Given the description of an element on the screen output the (x, y) to click on. 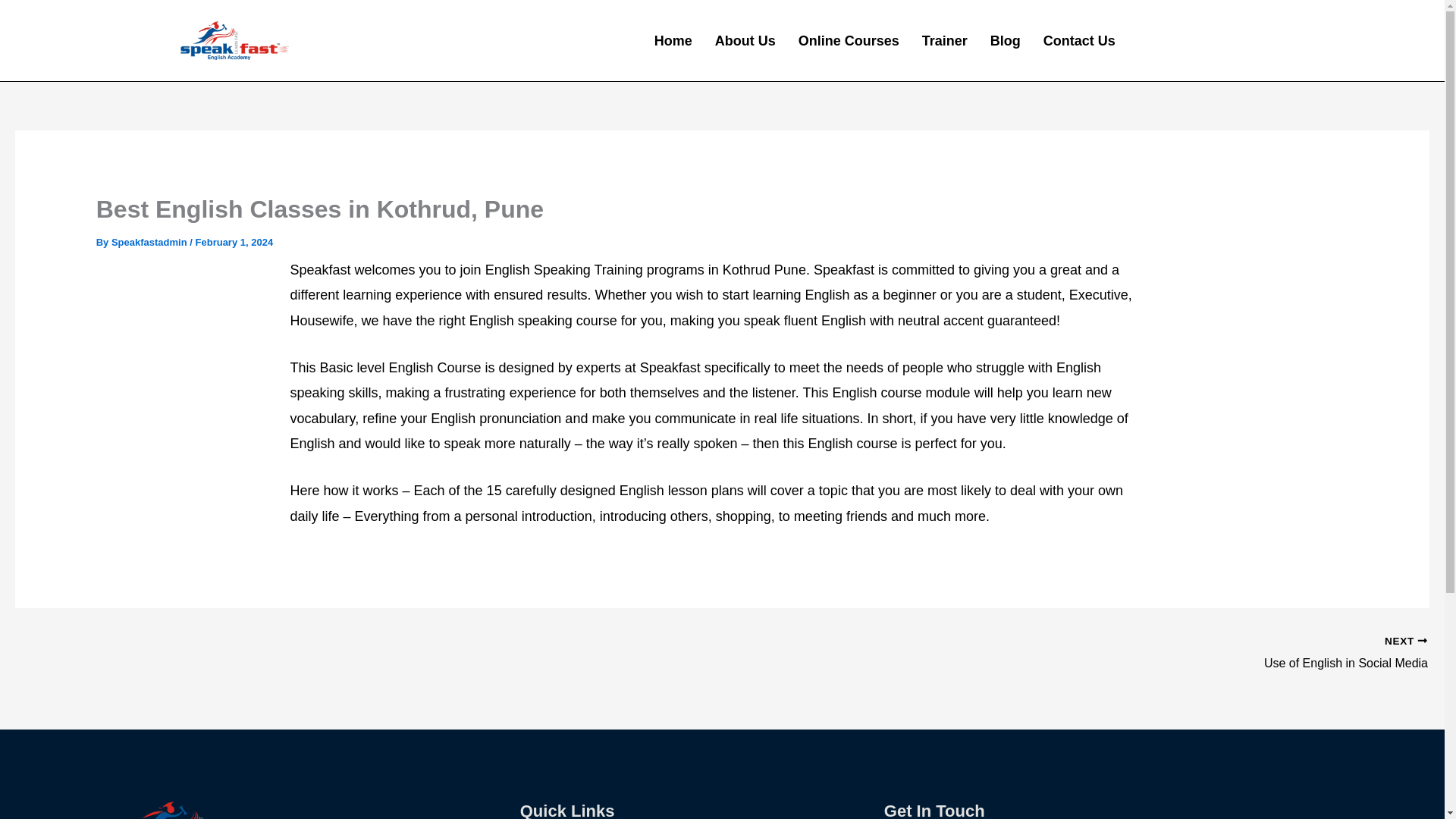
View all posts by Speakfastadmin (150, 242)
About Us (745, 40)
Home (1074, 653)
Use of English in Social Media (673, 40)
Online Courses (1074, 653)
Blog (848, 40)
Trainer (1005, 40)
Contact Us (944, 40)
Speakfastadmin (1079, 40)
